Given the description of an element on the screen output the (x, y) to click on. 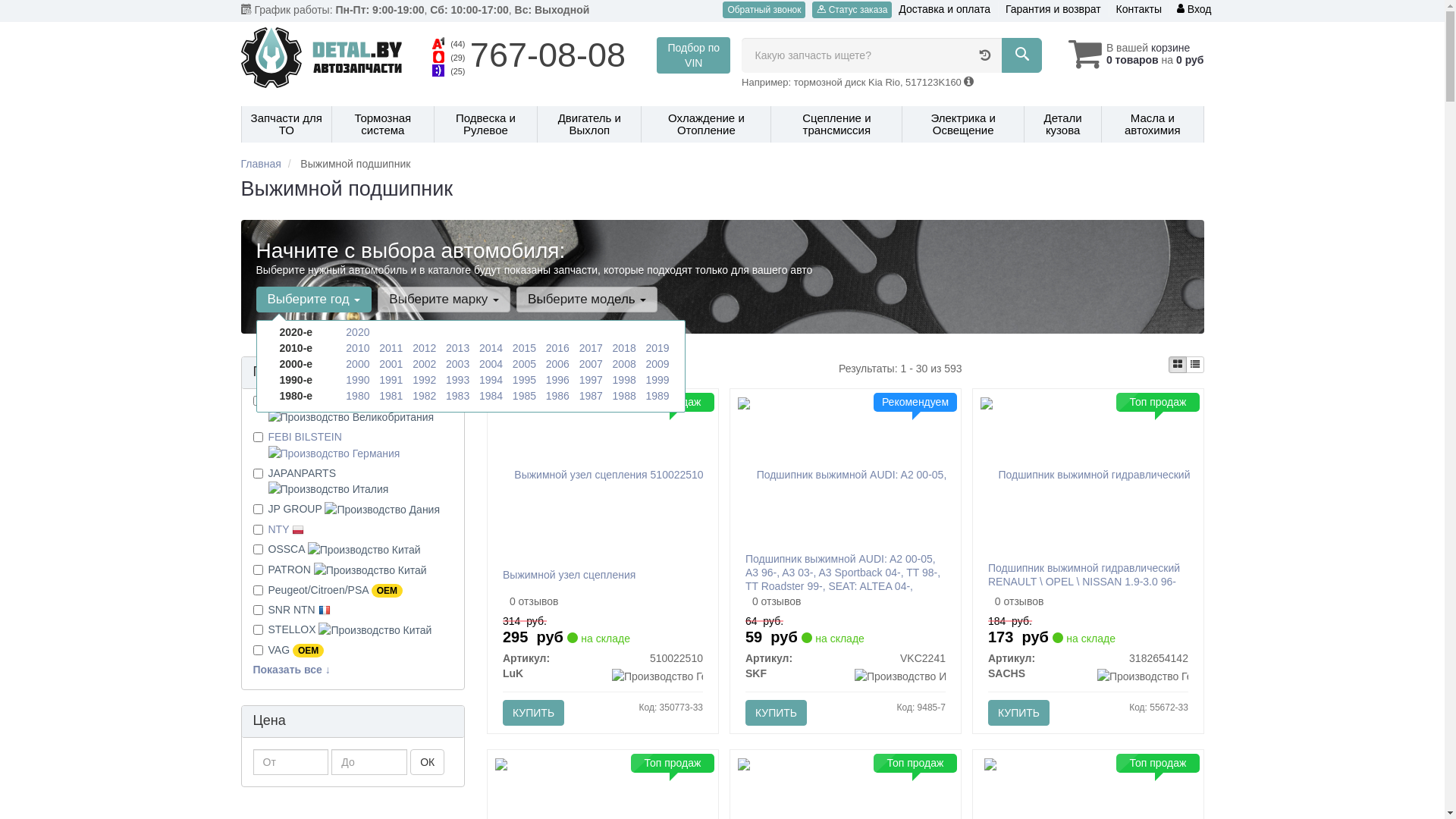
2018 Element type: text (624, 348)
2007 Element type: text (590, 363)
2012 Element type: text (424, 348)
1995 Element type: text (524, 379)
1993 Element type: text (457, 379)
1980 Element type: text (357, 395)
2005 Element type: text (524, 363)
1984 Element type: text (490, 395)
1999 Element type: text (656, 379)
2001 Element type: text (390, 363)
2004 Element type: text (490, 363)
2011 Element type: text (390, 348)
767-08-08 Element type: text (547, 54)
2006 Element type: text (557, 363)
1985 Element type: text (524, 395)
1987 Element type: text (590, 395)
2016 Element type: text (557, 348)
FEBI BILSTEIN Element type: text (334, 444)
2013 Element type: text (457, 348)
1981 Element type: text (390, 395)
1992 Element type: text (424, 379)
2008 Element type: text (624, 363)
1997 Element type: text (590, 379)
1988 Element type: text (624, 395)
2019 Element type: text (656, 348)
1986 Element type: text (557, 395)
1994 Element type: text (490, 379)
1989 Element type: text (656, 395)
2000 Element type: text (357, 363)
2017 Element type: text (590, 348)
2020 Element type: text (357, 332)
NTY Element type: text (286, 529)
2010 Element type: text (357, 348)
1991 Element type: text (390, 379)
1990 Element type: text (357, 379)
1983 Element type: text (457, 395)
2009 Element type: text (656, 363)
1982 Element type: text (424, 395)
1996 Element type: text (557, 379)
2014 Element type: text (490, 348)
2002 Element type: text (424, 363)
2015 Element type: text (524, 348)
1998 Element type: text (624, 379)
2003 Element type: text (457, 363)
